Given the description of an element on the screen output the (x, y) to click on. 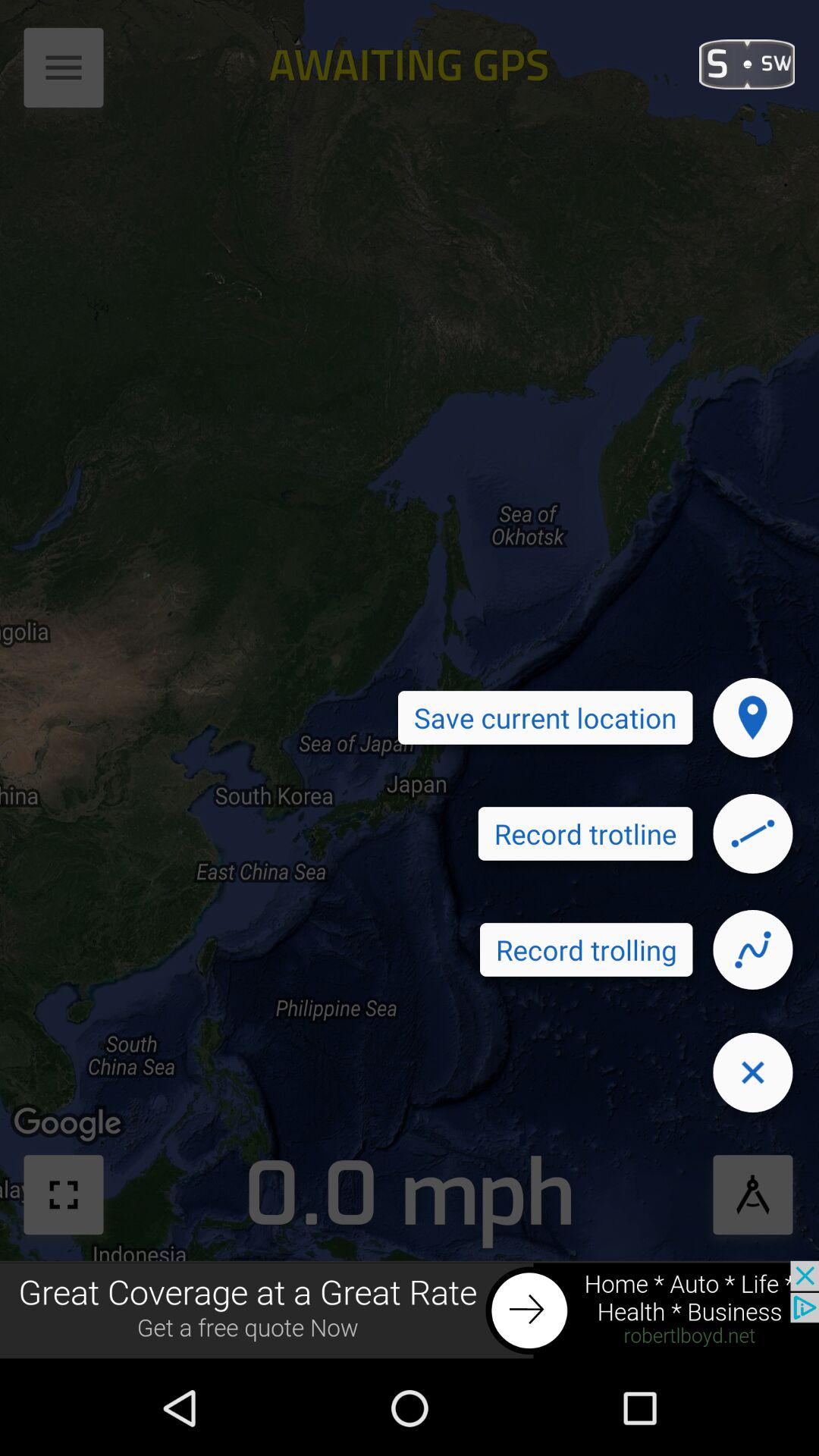
click on the icon next to record trolling (752, 949)
click on the icon next to save current location (752, 717)
select the text which is above the full screen button (69, 1125)
click on the button which is at the top left corner of the page (64, 72)
click on close icon (752, 1072)
